Given the description of an element on the screen output the (x, y) to click on. 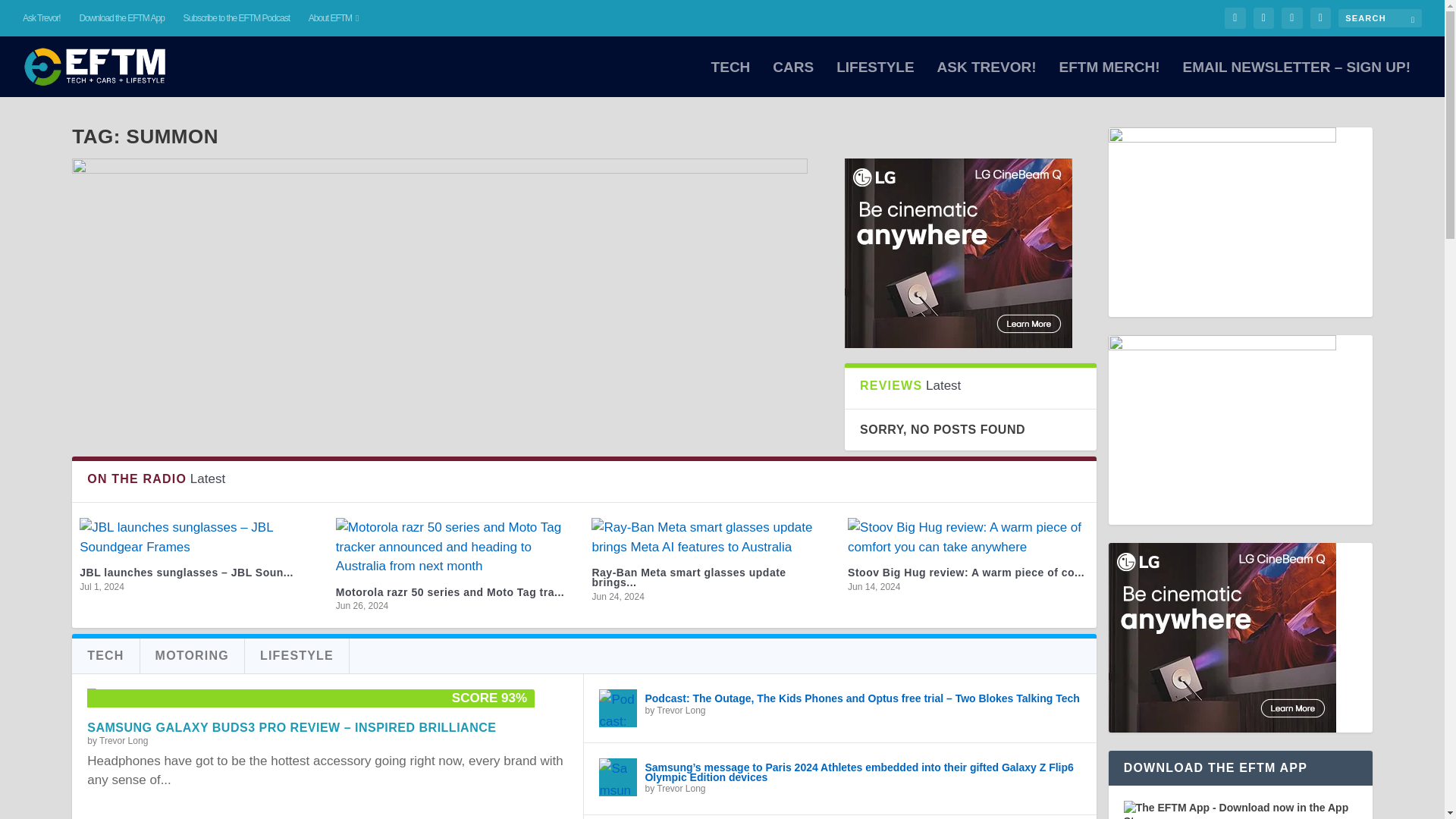
Posts by Trevor Long (123, 740)
TECH (731, 79)
Posts by Trevor Long (680, 787)
Ray-Ban Meta smart glasses update brings... (688, 577)
Trevor Long (123, 740)
Stoov Big Hug review: A warm piece of co... (965, 572)
Search for: (1380, 18)
Motorola razr 50 series and Moto Tag tra... (450, 592)
Posts by Trevor Long (680, 710)
Ask Trevor! (42, 18)
About EFTM (333, 18)
LIFESTYLE (874, 79)
CARS (793, 79)
